Given the description of an element on the screen output the (x, y) to click on. 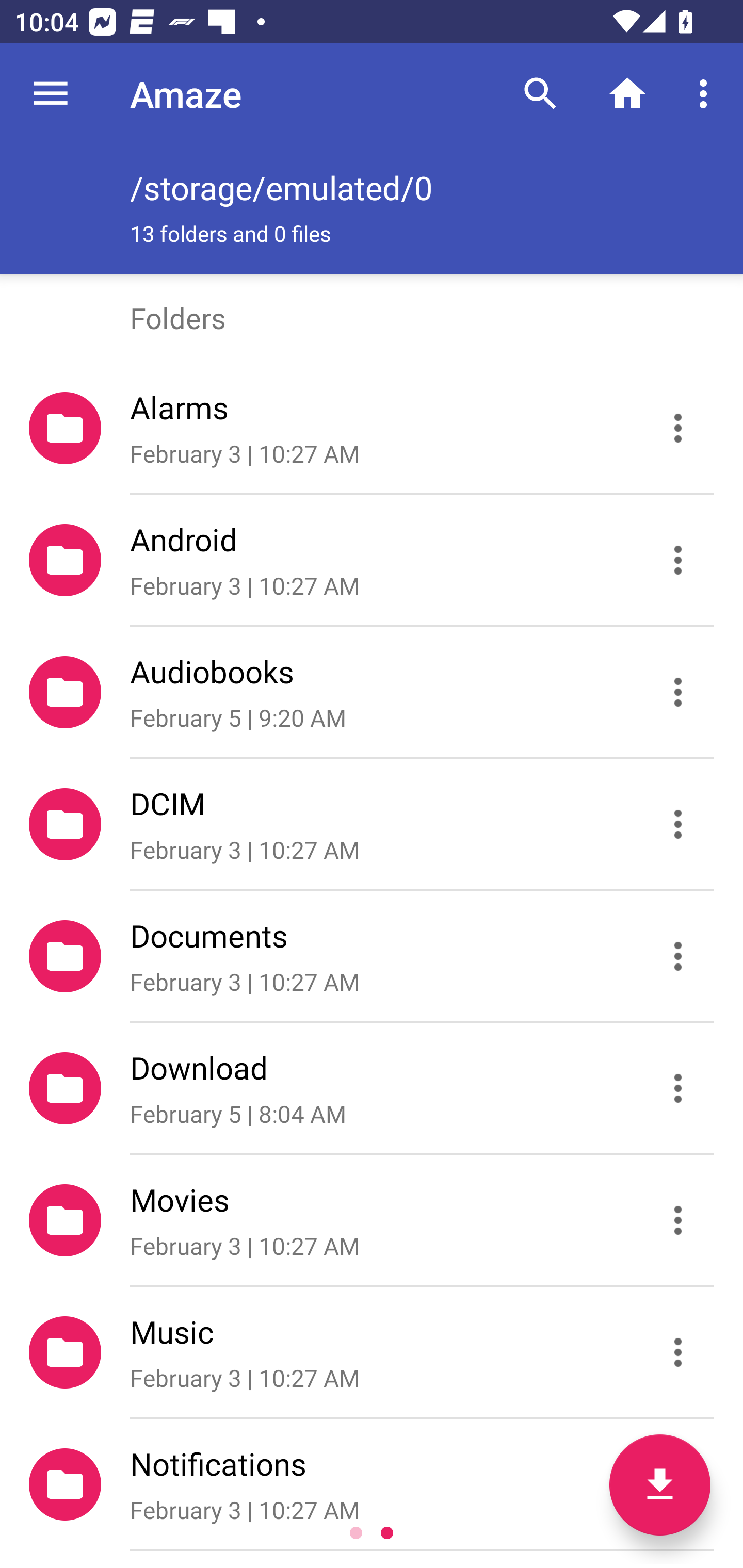
Navigate up (50, 93)
Search (540, 93)
Home (626, 93)
More options (706, 93)
Alarms February 3 | 10:27 AM (371, 427)
Android February 3 | 10:27 AM (371, 560)
Audiobooks February 5 | 9:20 AM (371, 692)
DCIM February 3 | 10:27 AM (371, 823)
Documents February 3 | 10:27 AM (371, 955)
Download February 5 | 8:04 AM (371, 1088)
Movies February 3 | 10:27 AM (371, 1220)
Music February 3 | 10:27 AM (371, 1352)
Notifications February 3 | 10:27 AM (371, 1484)
